Given the description of an element on the screen output the (x, y) to click on. 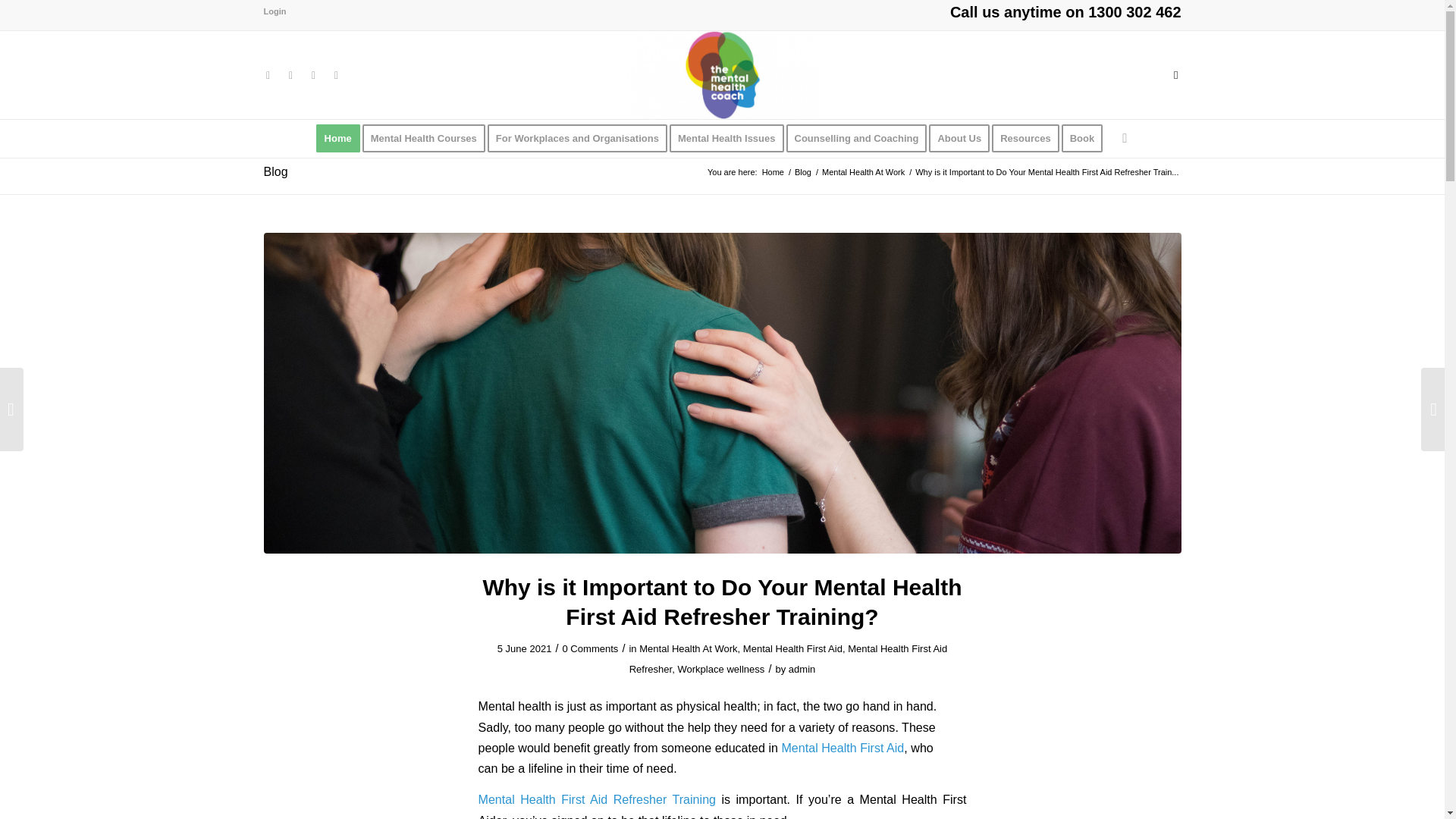
Instagram (290, 74)
Mental Health Issues (731, 138)
Mental Health First Aid Courses (337, 138)
For Workplaces and Organisations (582, 138)
Mental Health Courses (428, 138)
Login (274, 11)
Home (337, 138)
Mental Health Courses (428, 138)
Youtube (335, 74)
Counselling and Coaching (861, 138)
